Given the description of an element on the screen output the (x, y) to click on. 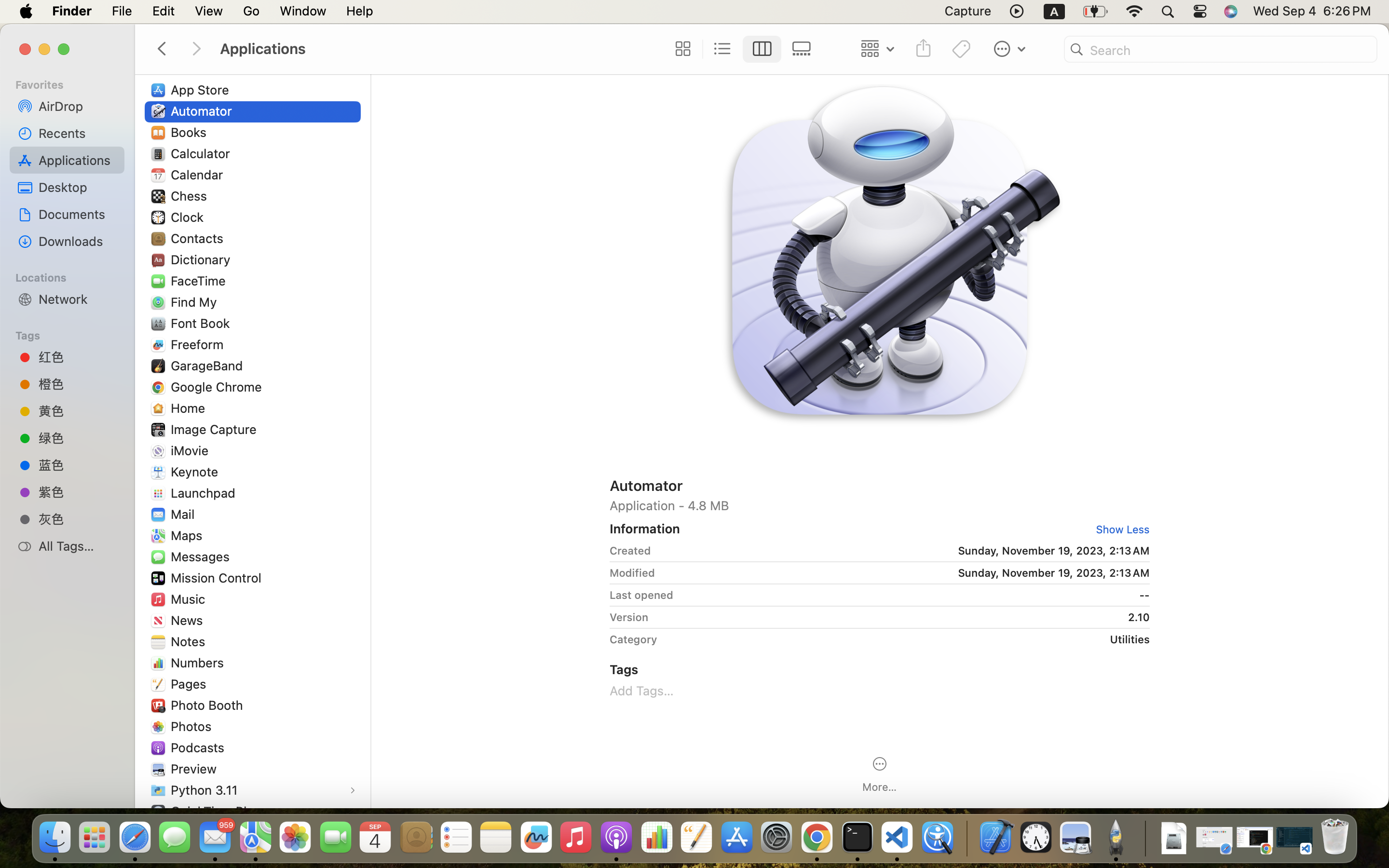
1 Element type: AXCheckBox (1119, 529)
Downloads Element type: AXStaticText (77, 240)
Clock Element type: AXTextField (189, 216)
蓝色 Element type: AXStaticText (77, 464)
Created Element type: AXStaticText (630, 550)
